Given the description of an element on the screen output the (x, y) to click on. 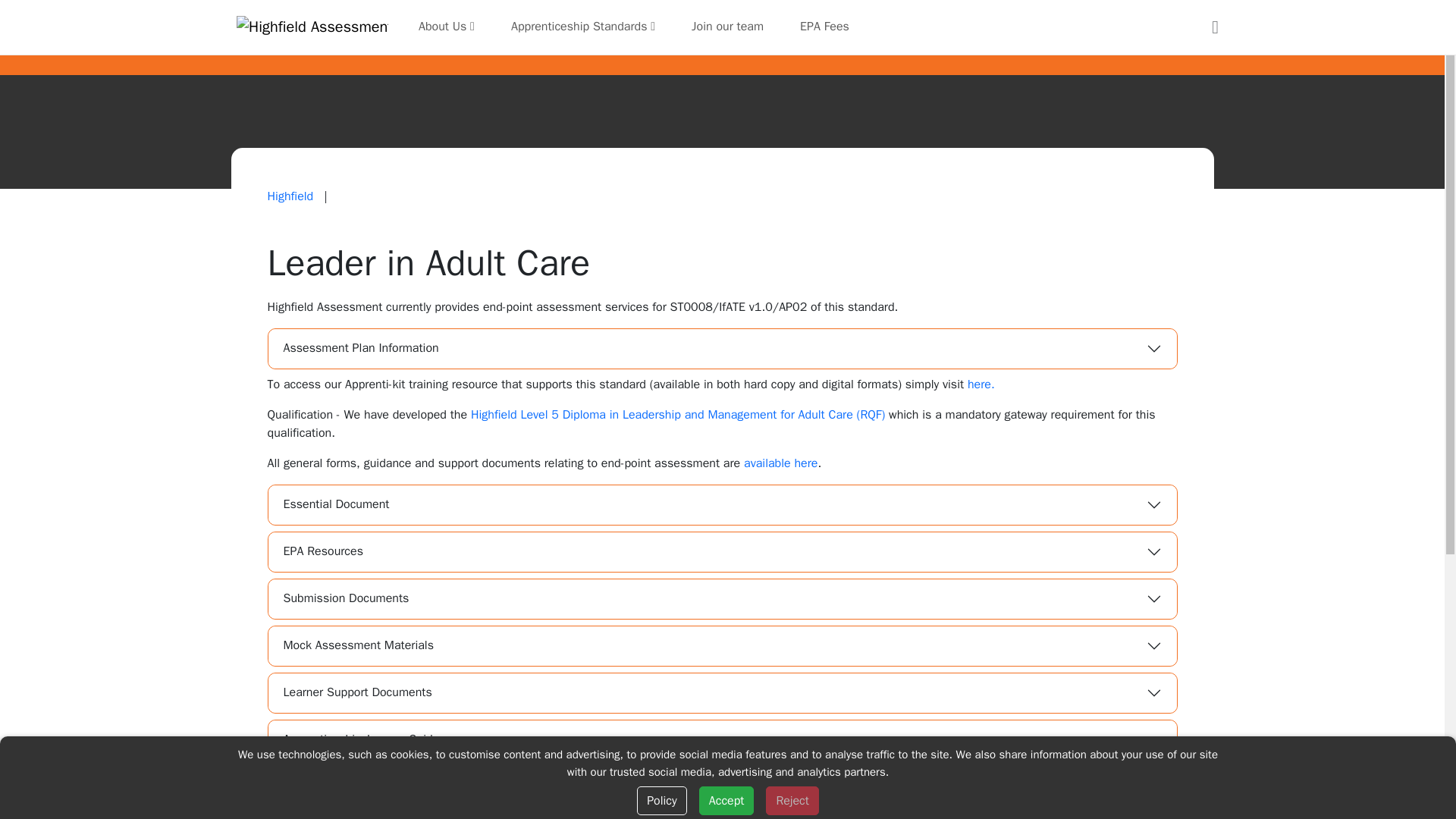
Mock Assessment Materials (721, 645)
Assessment Plan Information (721, 348)
Essential Document (721, 504)
EPA Fees (824, 27)
available here (780, 462)
EPA Resources (721, 551)
Apprenticeship Standards (582, 26)
here. (981, 384)
Learner Support Documents (721, 692)
Join our team (727, 27)
